Given the description of an element on the screen output the (x, y) to click on. 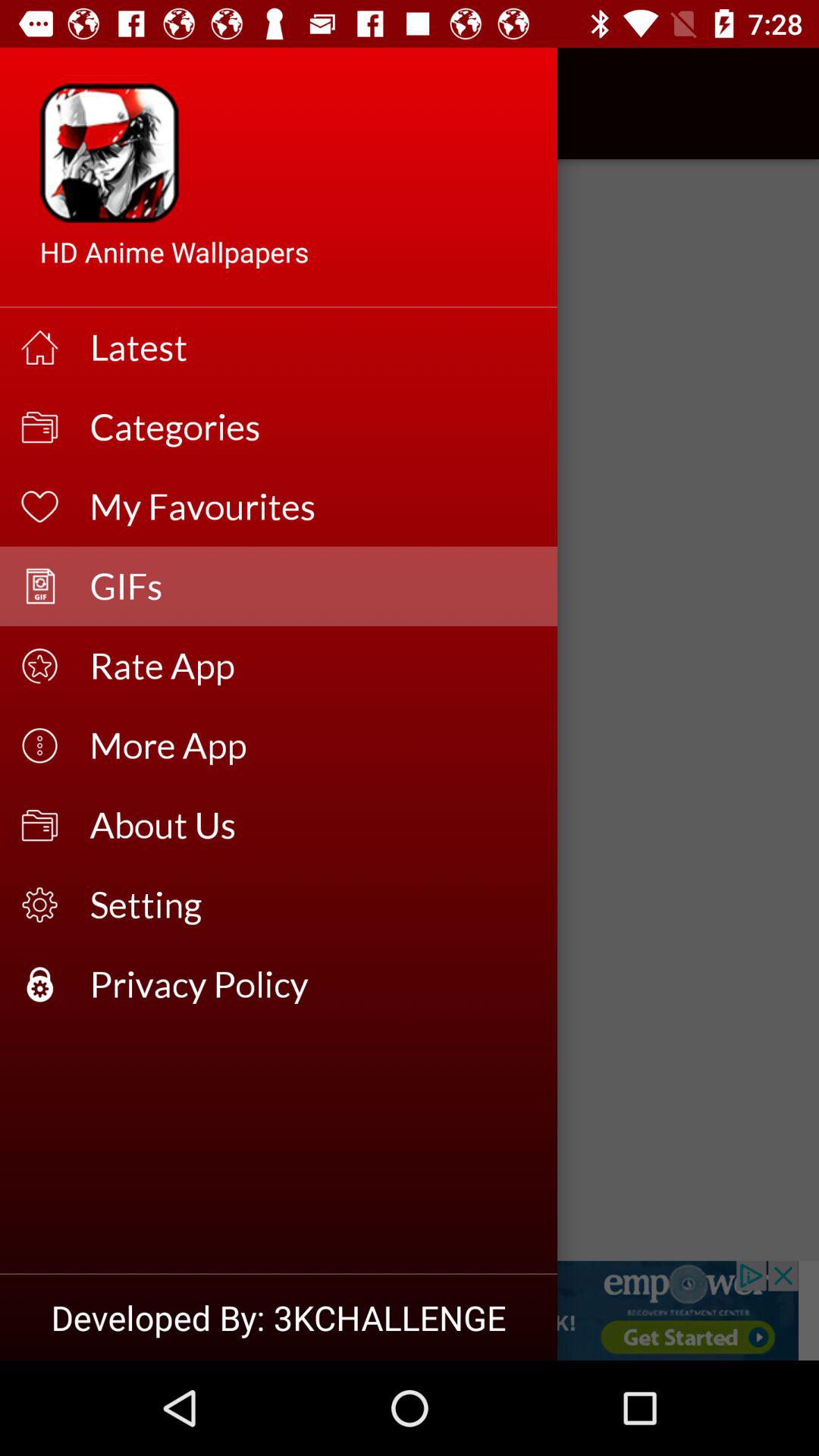
gifs (409, 1310)
